Given the description of an element on the screen output the (x, y) to click on. 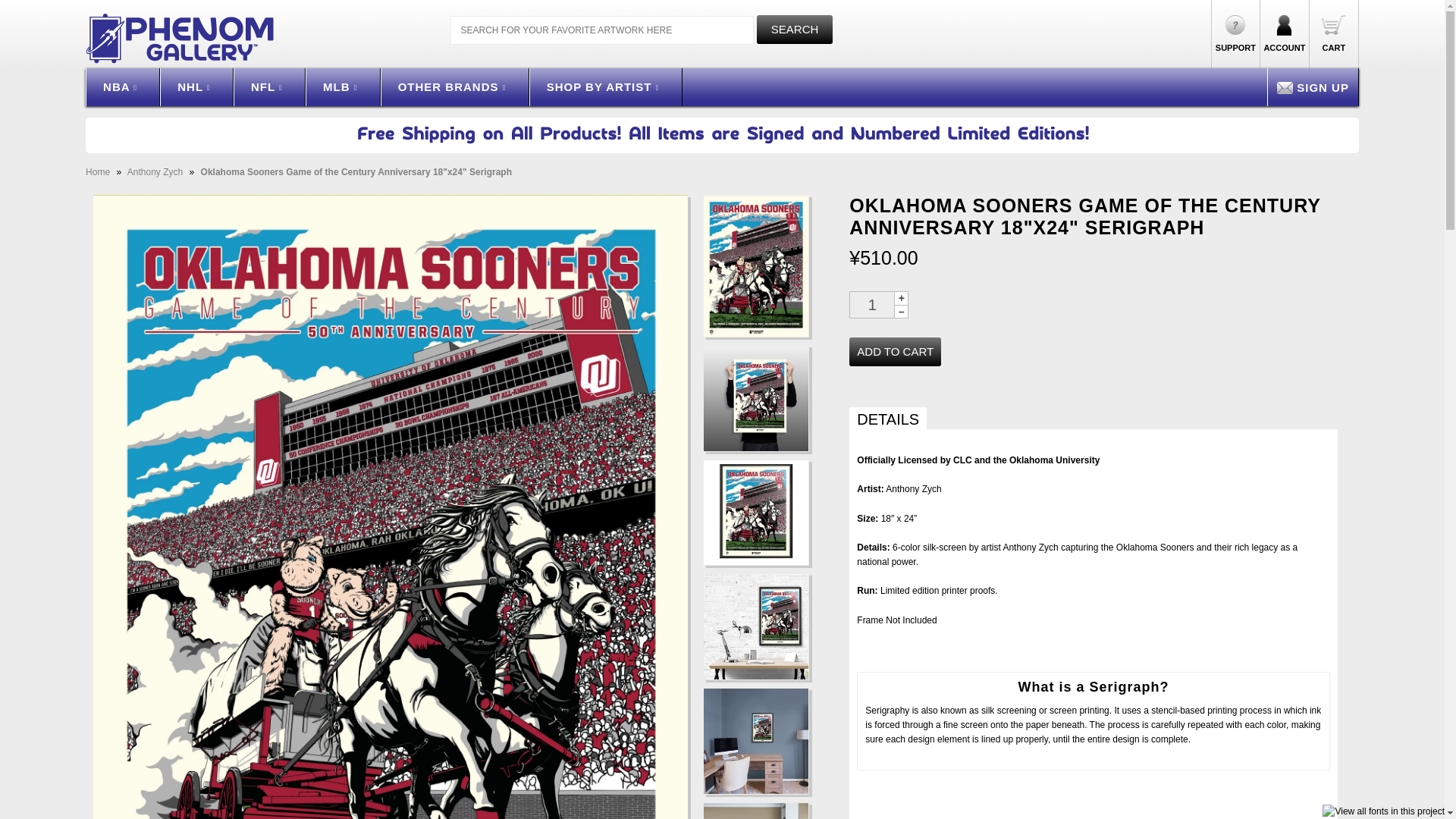
NBA (122, 86)
Add to Cart (894, 351)
Search (794, 29)
Search (794, 29)
Back to the frontpage (99, 172)
Qty (871, 304)
1 (871, 304)
